Given the description of an element on the screen output the (x, y) to click on. 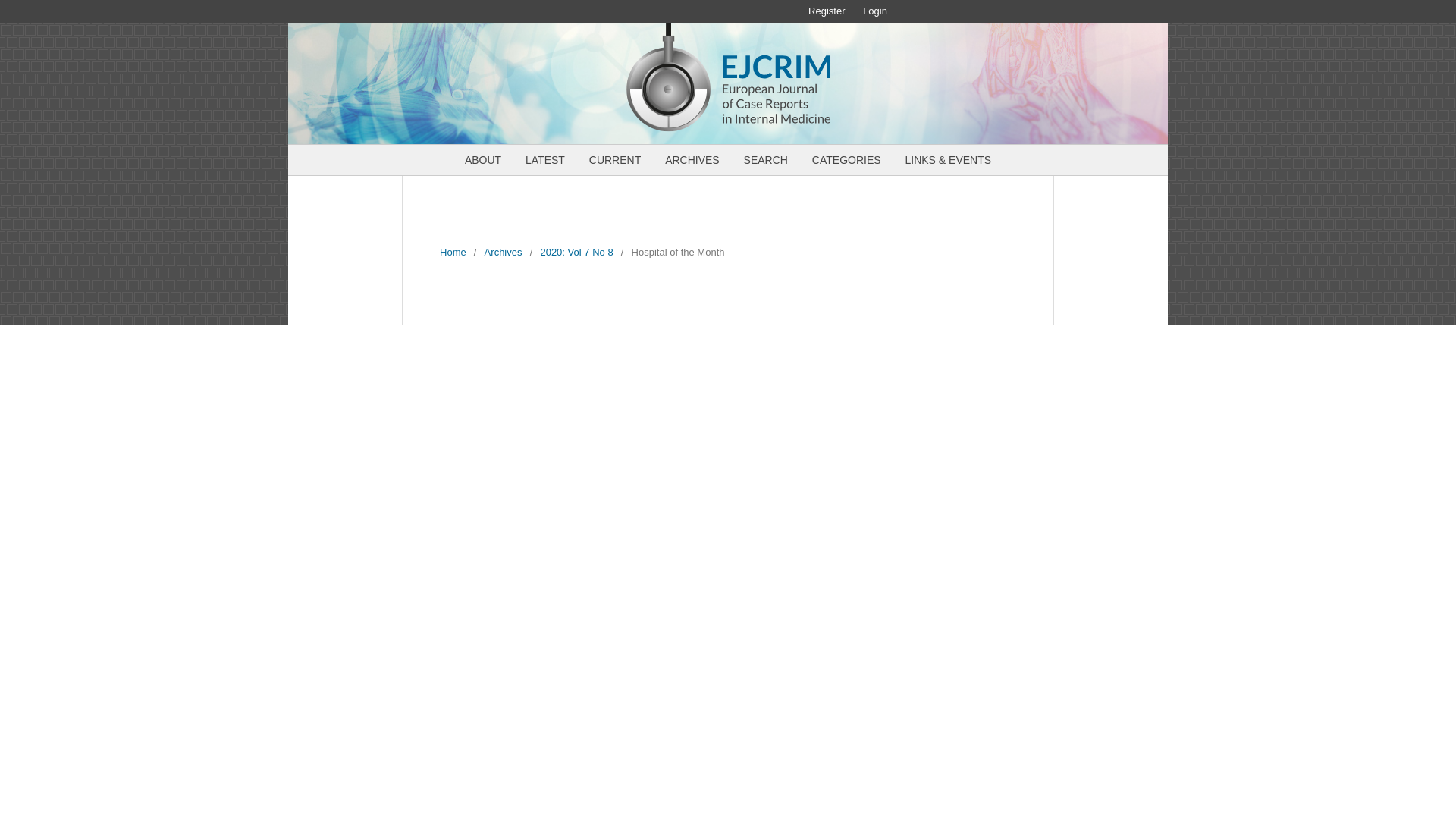
Login (875, 11)
CURRENT (614, 161)
LATEST (544, 161)
ARCHIVES (692, 161)
Archives (503, 252)
2020: Vol 7 No 8 (576, 252)
SEARCH (765, 161)
ABOUT (483, 161)
Register (825, 11)
CATEGORIES (846, 161)
